Given the description of an element on the screen output the (x, y) to click on. 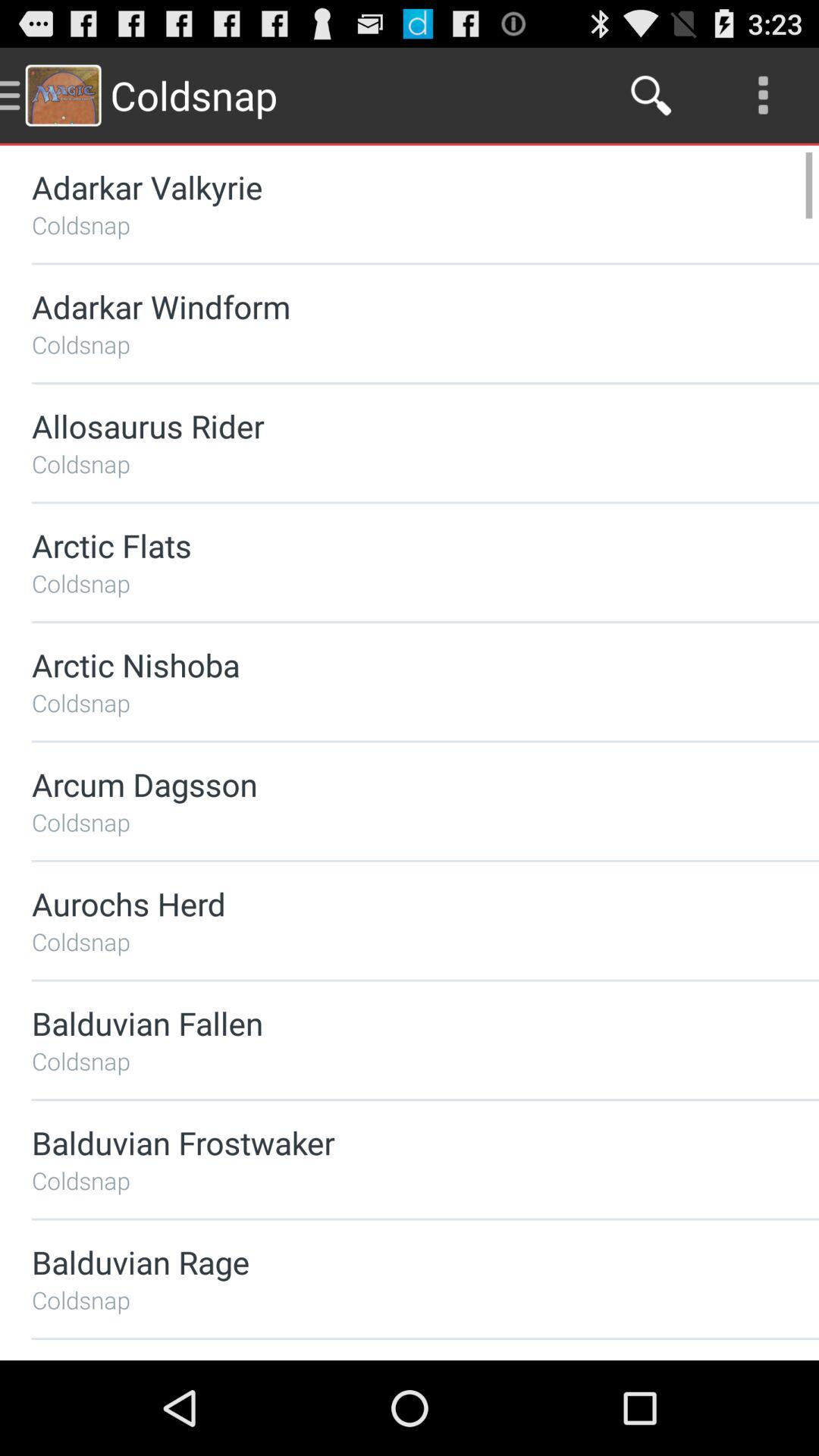
select app to the right of the coldsnap item (651, 95)
